Given the description of an element on the screen output the (x, y) to click on. 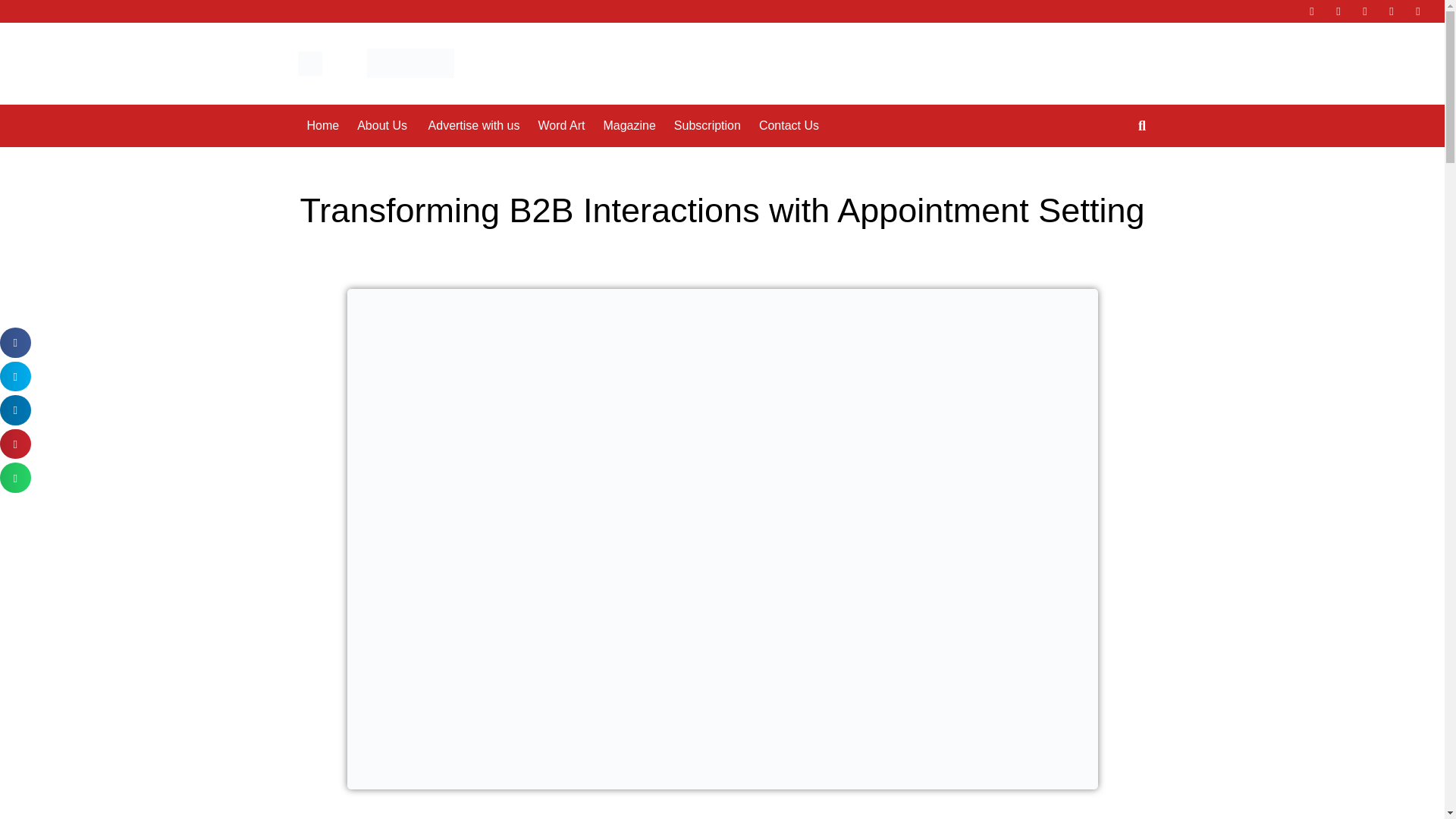
Youtube (1417, 11)
Subscription (707, 125)
 Advertise with us (464, 90)
Word Art (561, 125)
Magazine (620, 90)
Facebook (1311, 11)
Contact Us (779, 90)
Magazine (628, 125)
Pinterest (1391, 11)
Linkedin (1364, 11)
